Given the description of an element on the screen output the (x, y) to click on. 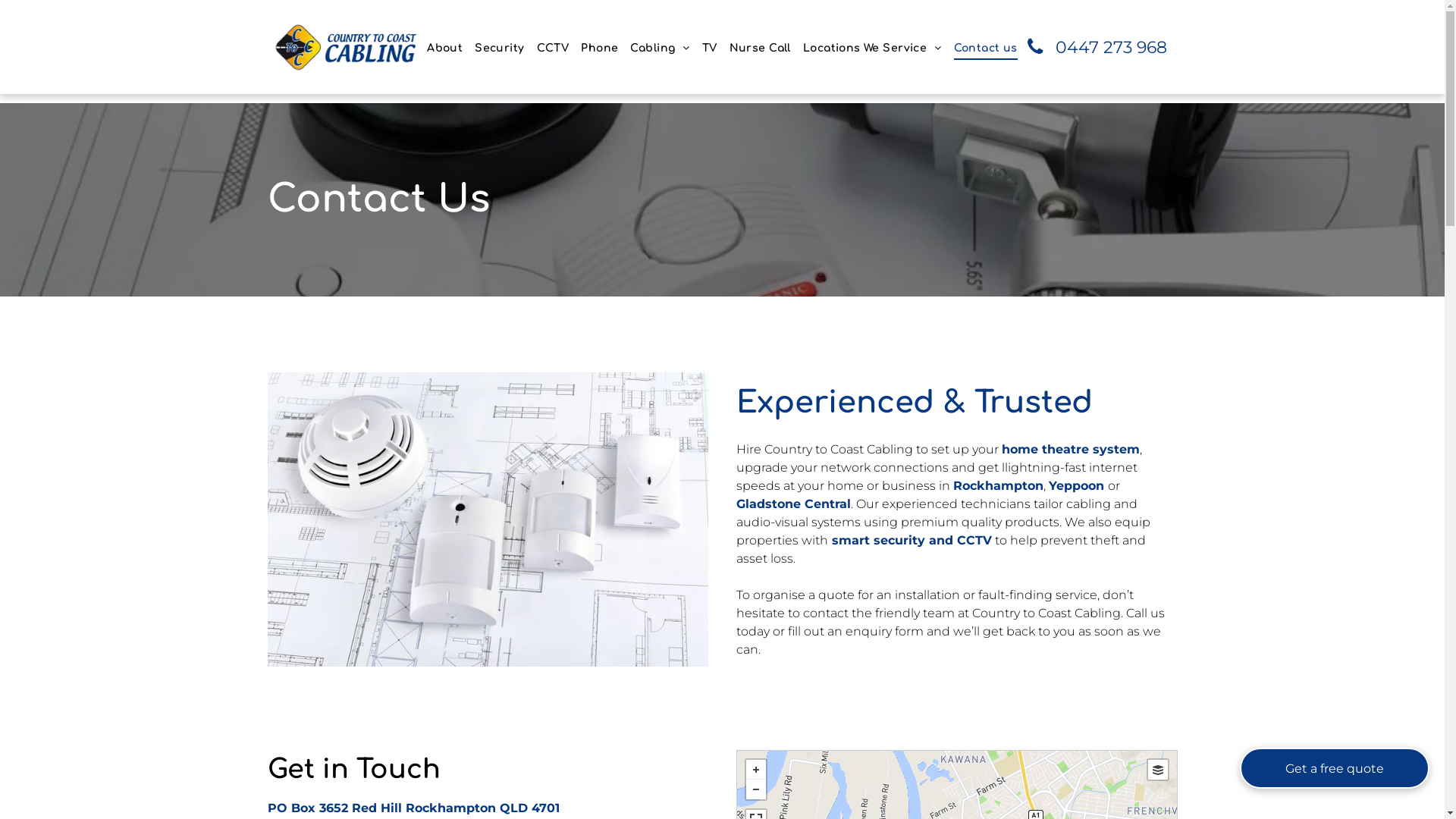
home theatre system Element type: text (1070, 449)
0447 273 968 Element type: text (1100, 46)
PO Box 3652 Red Hill Rockhampton QLD 4701 Element type: text (412, 807)
Phone Element type: text (599, 47)
Cabling Element type: text (659, 47)
Contact us Element type: text (985, 47)
Security Element type: text (499, 47)
+ Element type: text (755, 769)
Layers Element type: hover (1157, 769)
About Element type: text (444, 47)
Locations We Service Element type: text (872, 47)
Yeppoon Element type: text (1075, 485)
CCTV Element type: text (552, 47)
smart security and CCTV Element type: text (911, 540)
Gladstone Central Element type: text (792, 503)
TV Element type: text (709, 47)
Rockhampton Element type: text (997, 485)
Country to Coast Cabling in Rockhampton Element type: hover (342, 46)
Get a free quote Element type: text (1334, 767)
Nurse Call Element type: text (760, 47)
- Element type: text (755, 789)
